Given the description of an element on the screen output the (x, y) to click on. 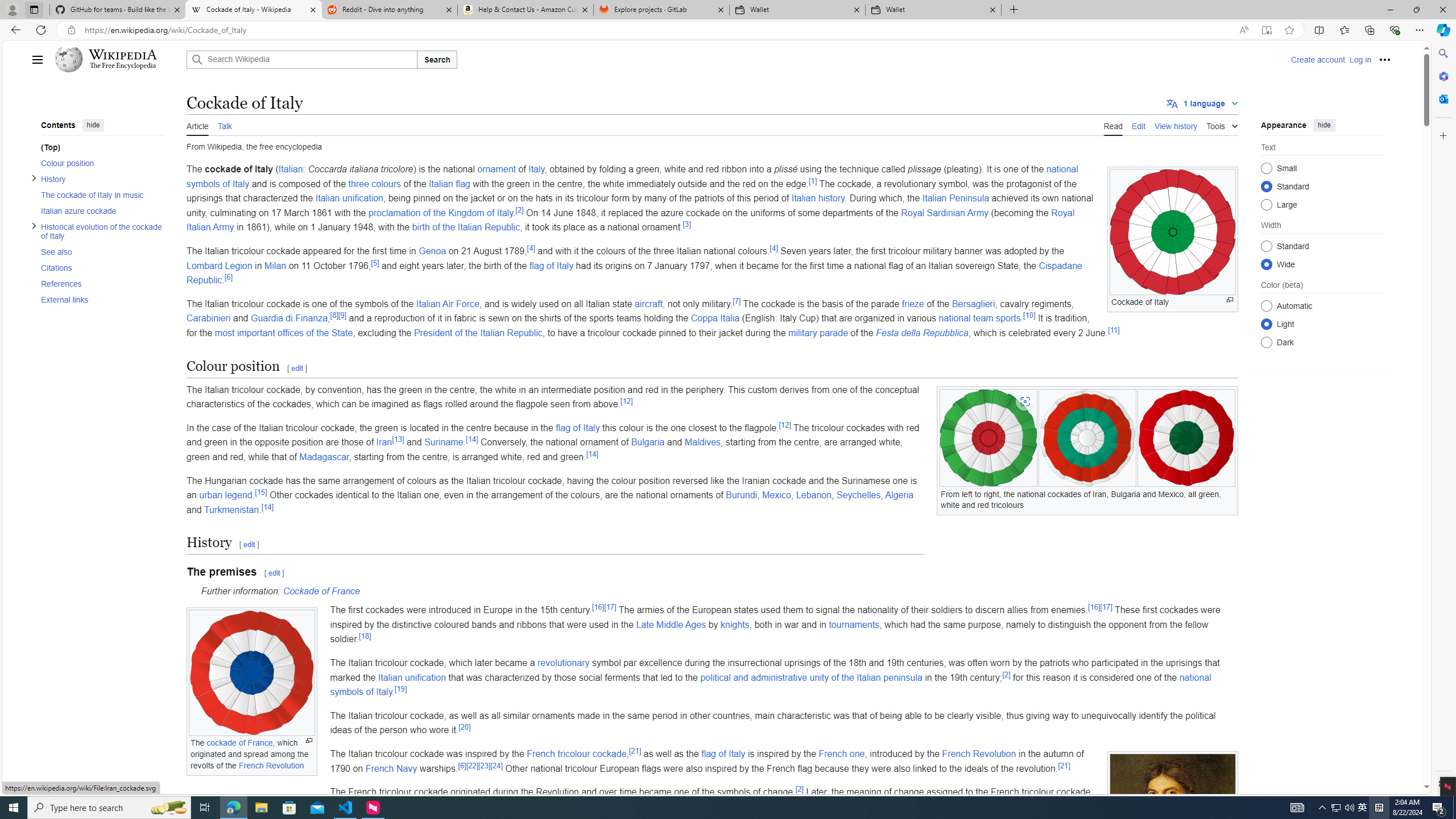
Cispadane Republic (633, 272)
Milan (274, 265)
Colour position (98, 162)
[21] (1064, 764)
French tricolour cockade (576, 753)
Automatic (1266, 305)
Maldives (702, 442)
Search Wikipedia (301, 59)
Create account (1317, 58)
The Free Encyclopedia (121, 65)
[13] (397, 438)
President of the Italian Republic (478, 332)
